Given the description of an element on the screen output the (x, y) to click on. 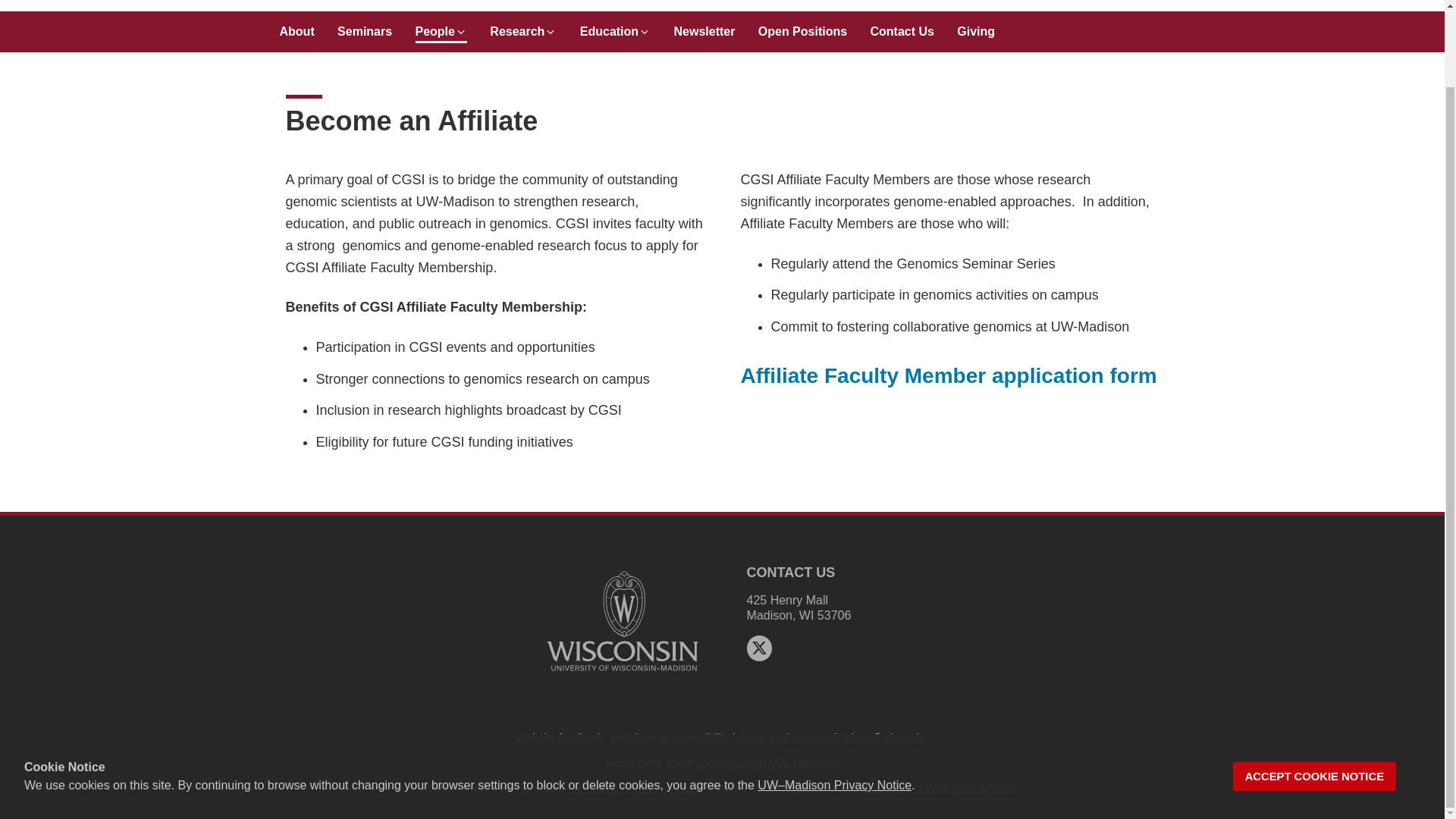
ACCEPT COOKIE NOTICE (1314, 690)
University logo that links to main university website (621, 673)
Contact Us (902, 26)
Research Expand (522, 26)
Education Expand (614, 26)
Seminars (364, 26)
About (296, 26)
x twitter (759, 647)
Affiliate Faculty Member application form (947, 375)
Expand (550, 31)
